Given the description of an element on the screen output the (x, y) to click on. 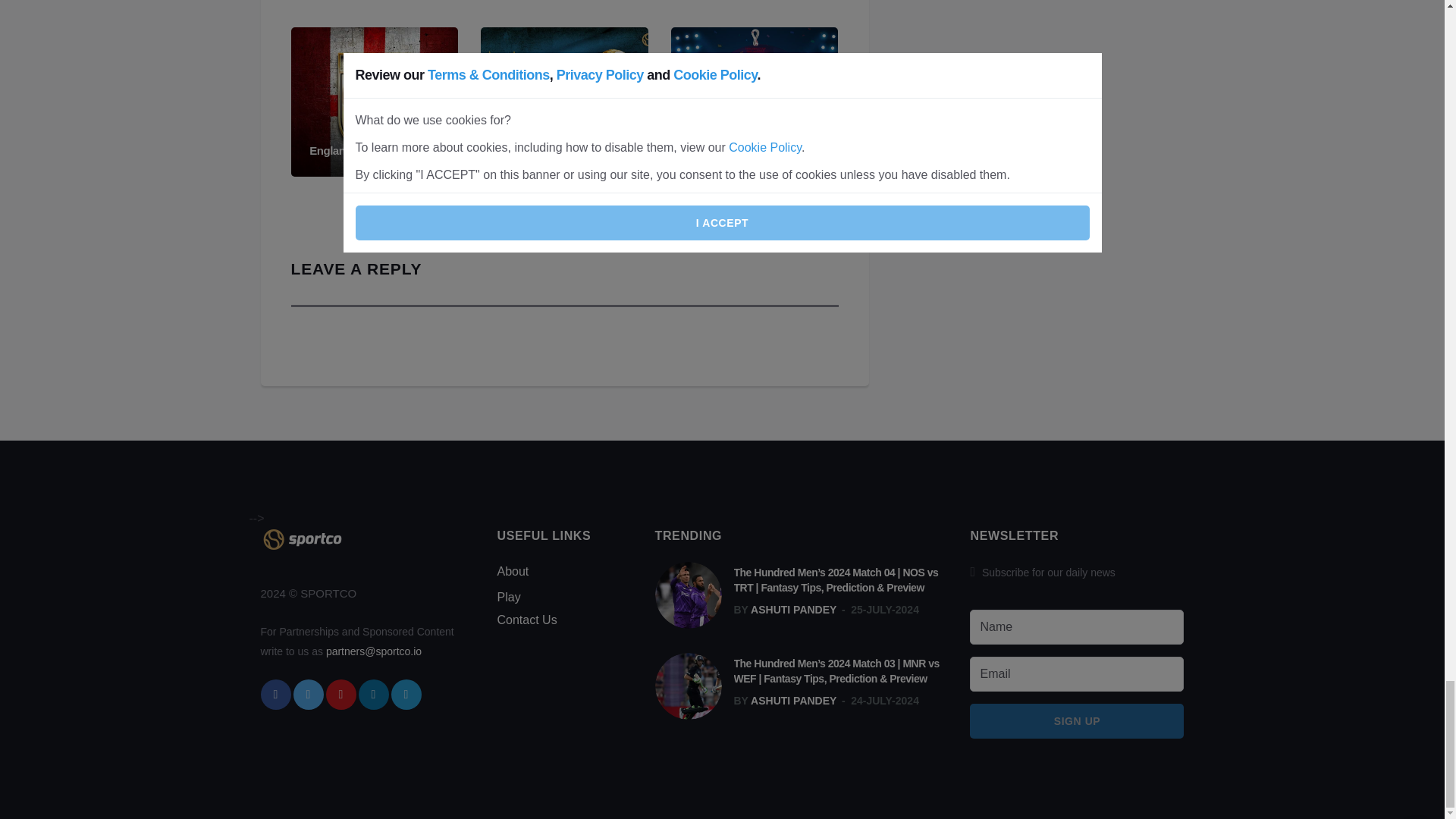
Sign Up (1076, 720)
